Given the description of an element on the screen output the (x, y) to click on. 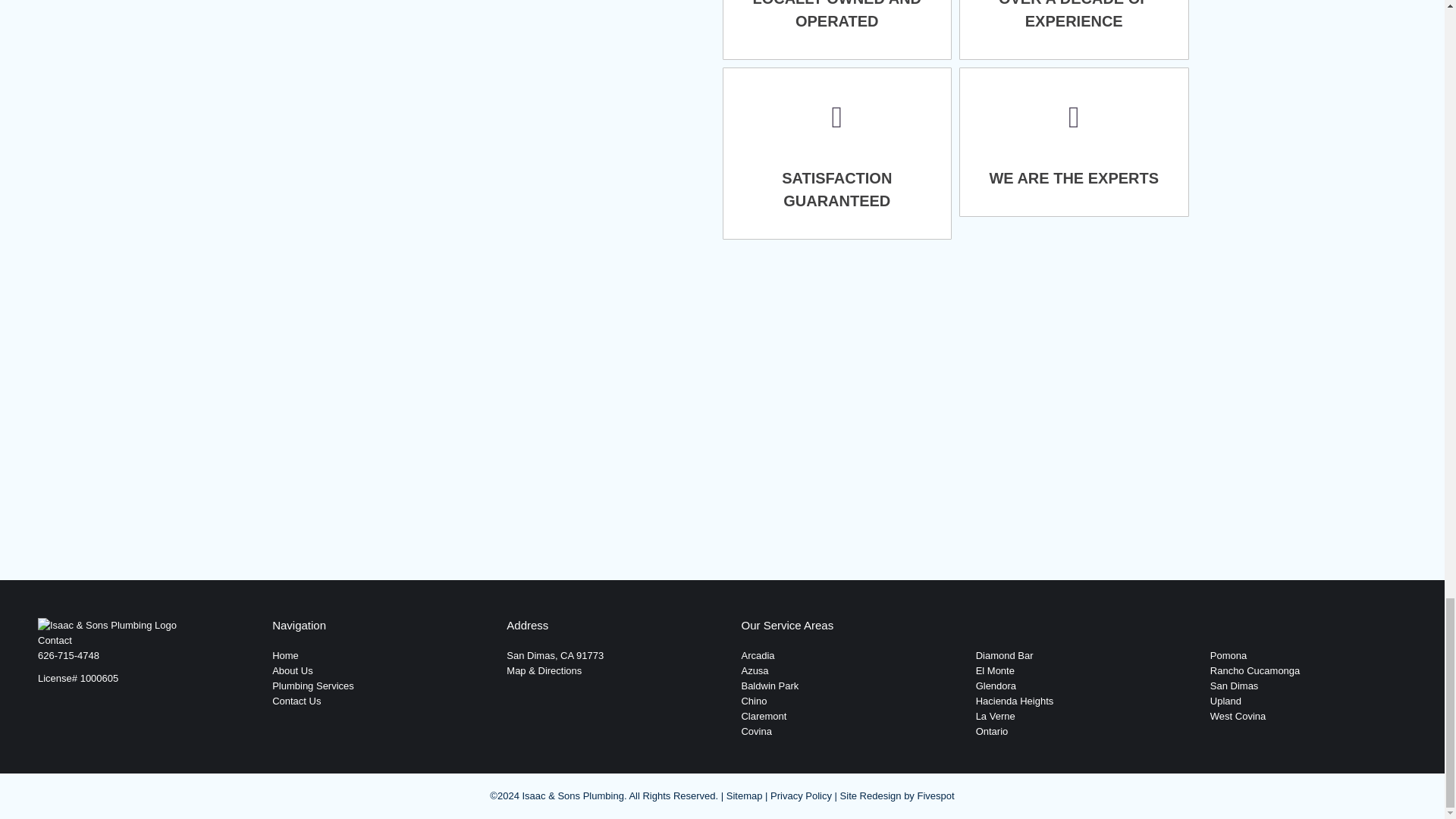
services-page-top-image (488, 119)
